Given the description of an element on the screen output the (x, y) to click on. 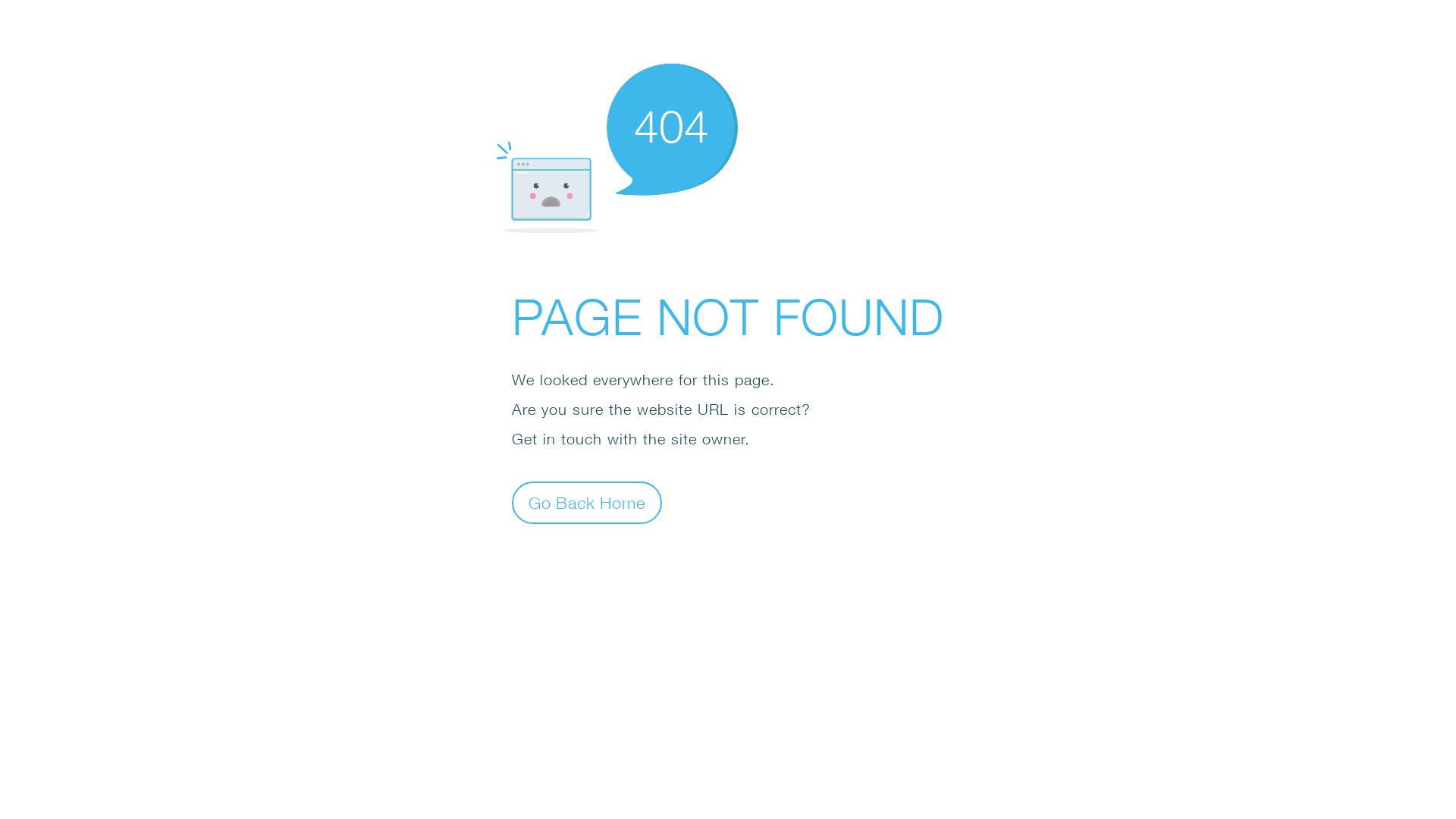
Go Back Home Element type: text (586, 502)
